Given the description of an element on the screen output the (x, y) to click on. 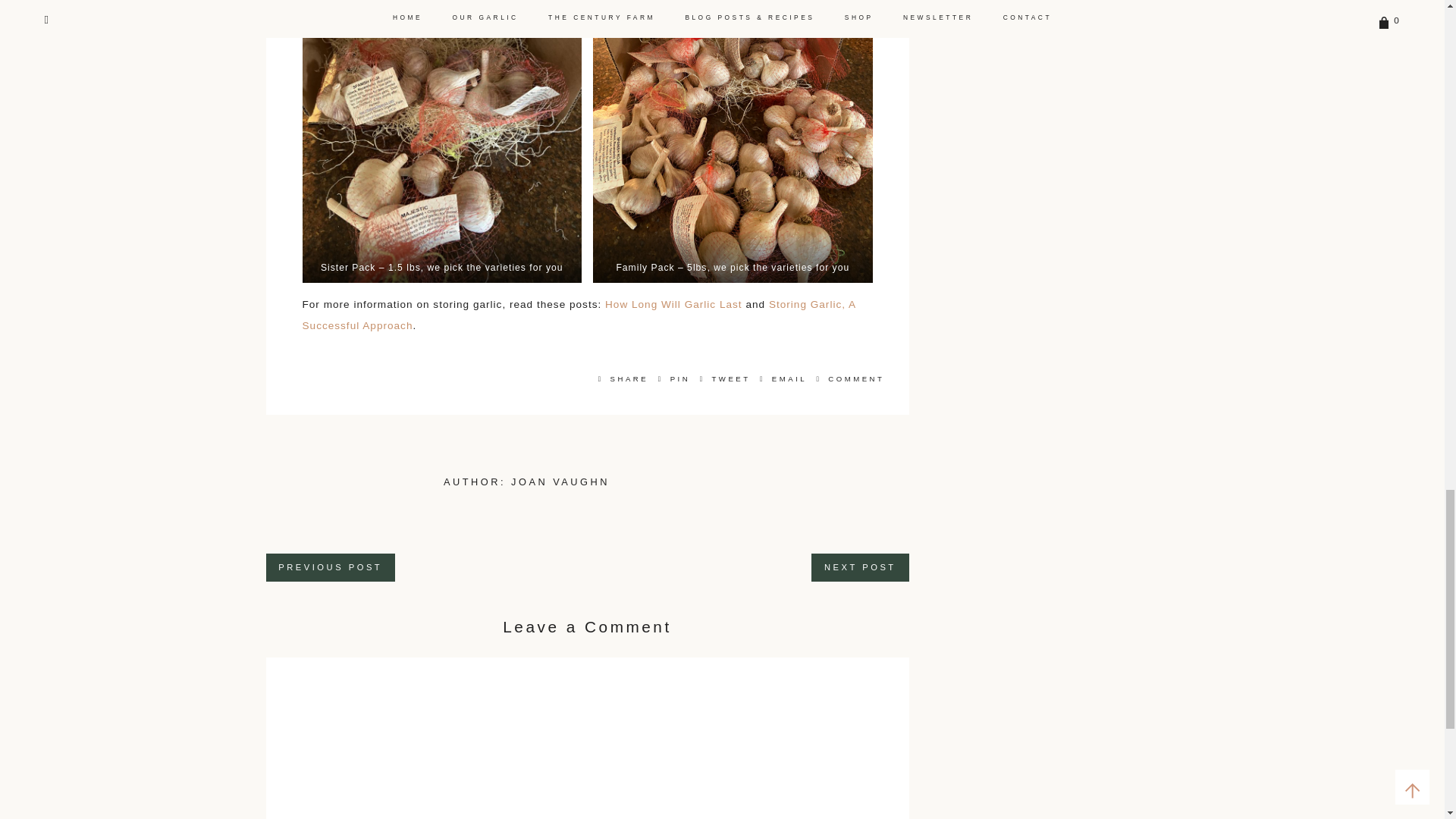
TWEET (725, 378)
PREVIOUS POST (329, 567)
COMMENT (847, 378)
NEXT POST (860, 567)
Storing Garlic, A Successful Approach (578, 314)
EMAIL (783, 378)
Facebook (623, 378)
SHARE (623, 378)
How Long Will Garlic Last (673, 304)
PIN (674, 378)
Twitter (725, 378)
